Given the description of an element on the screen output the (x, y) to click on. 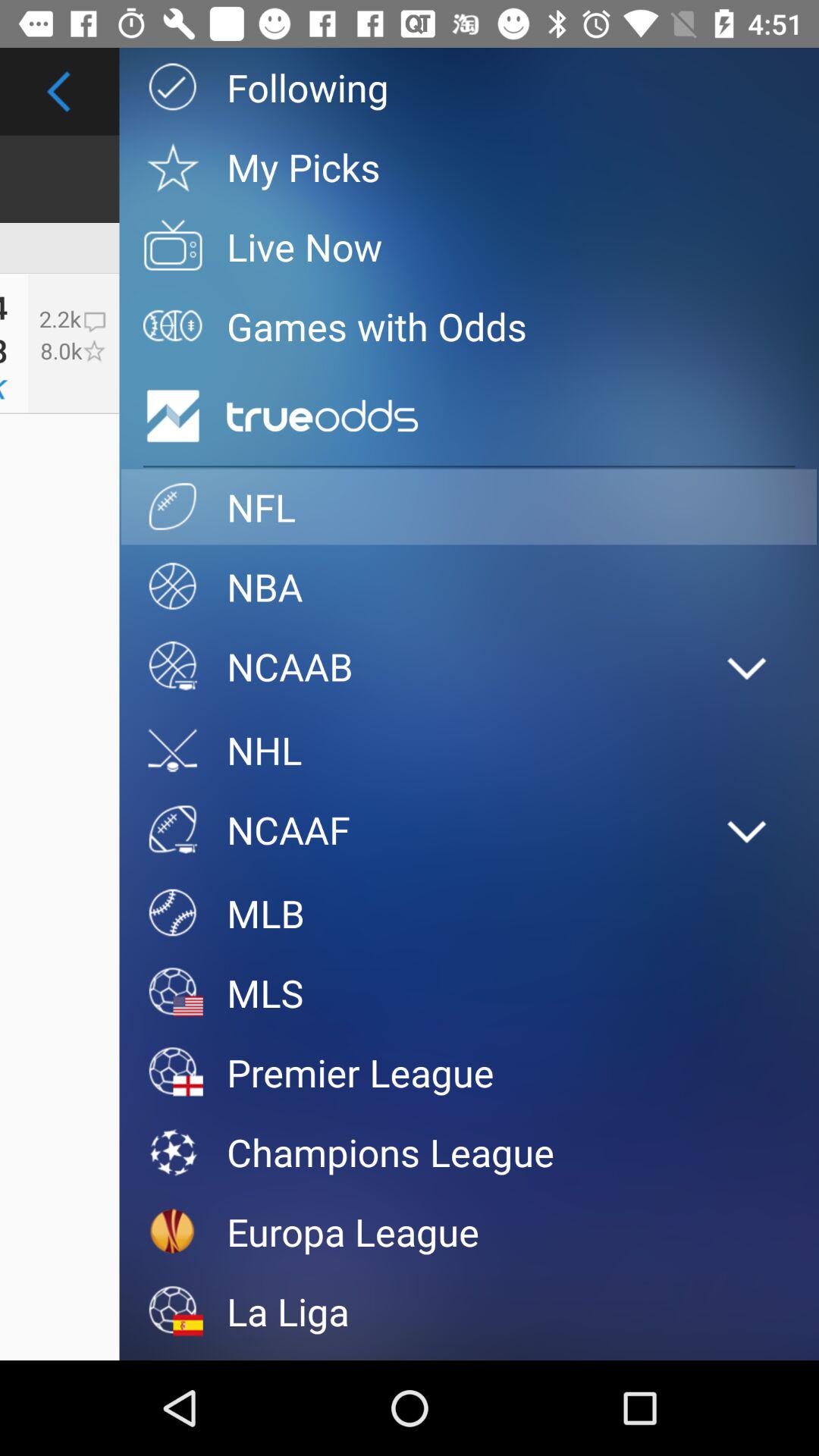
select the icon to the left of the 2 2k c item (3, 349)
